Given the description of an element on the screen output the (x, y) to click on. 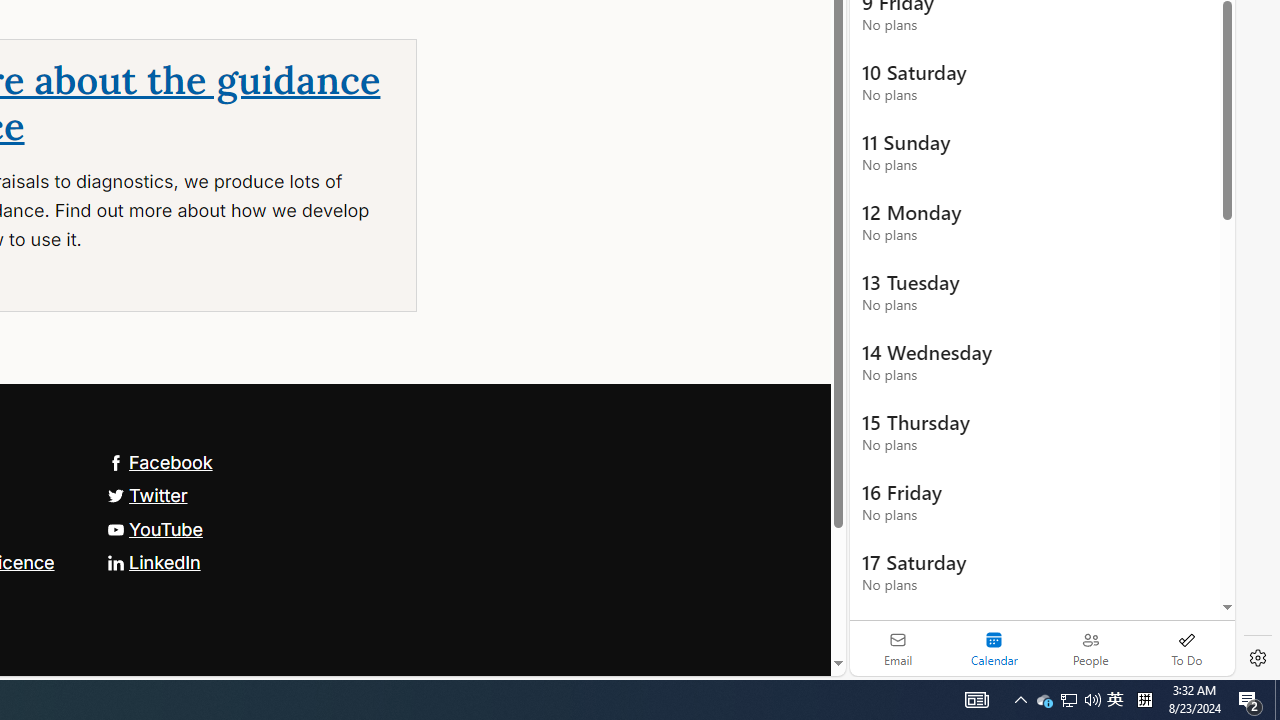
To Do (1186, 648)
YouTube (154, 528)
Selected calendar module. Date today is 22 (994, 648)
LinkedIn (153, 561)
People (1090, 648)
Facebook (159, 461)
Twitter (147, 494)
Email (898, 648)
